Given the description of an element on the screen output the (x, y) to click on. 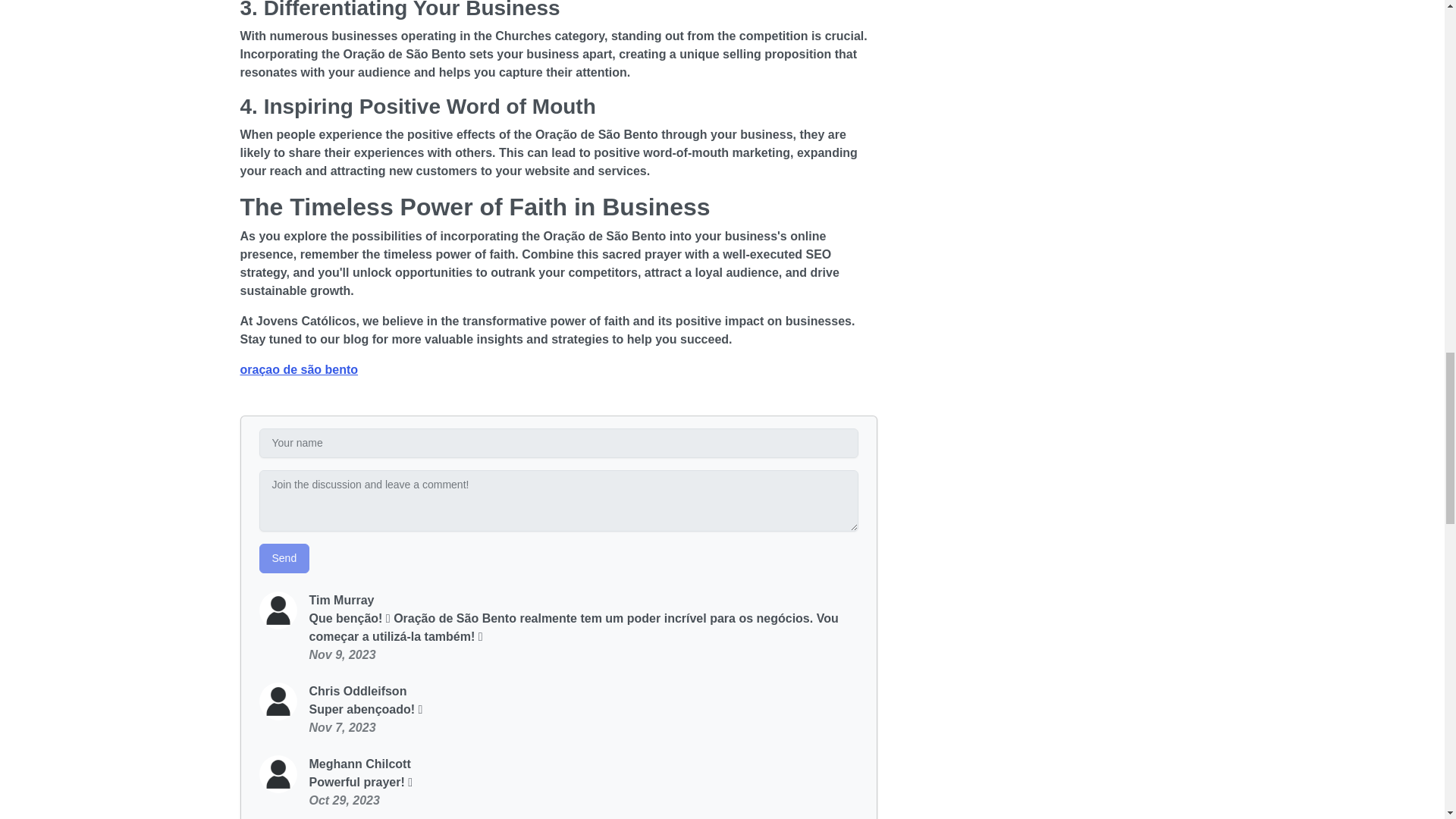
Send (284, 558)
Send (284, 558)
